Given the description of an element on the screen output the (x, y) to click on. 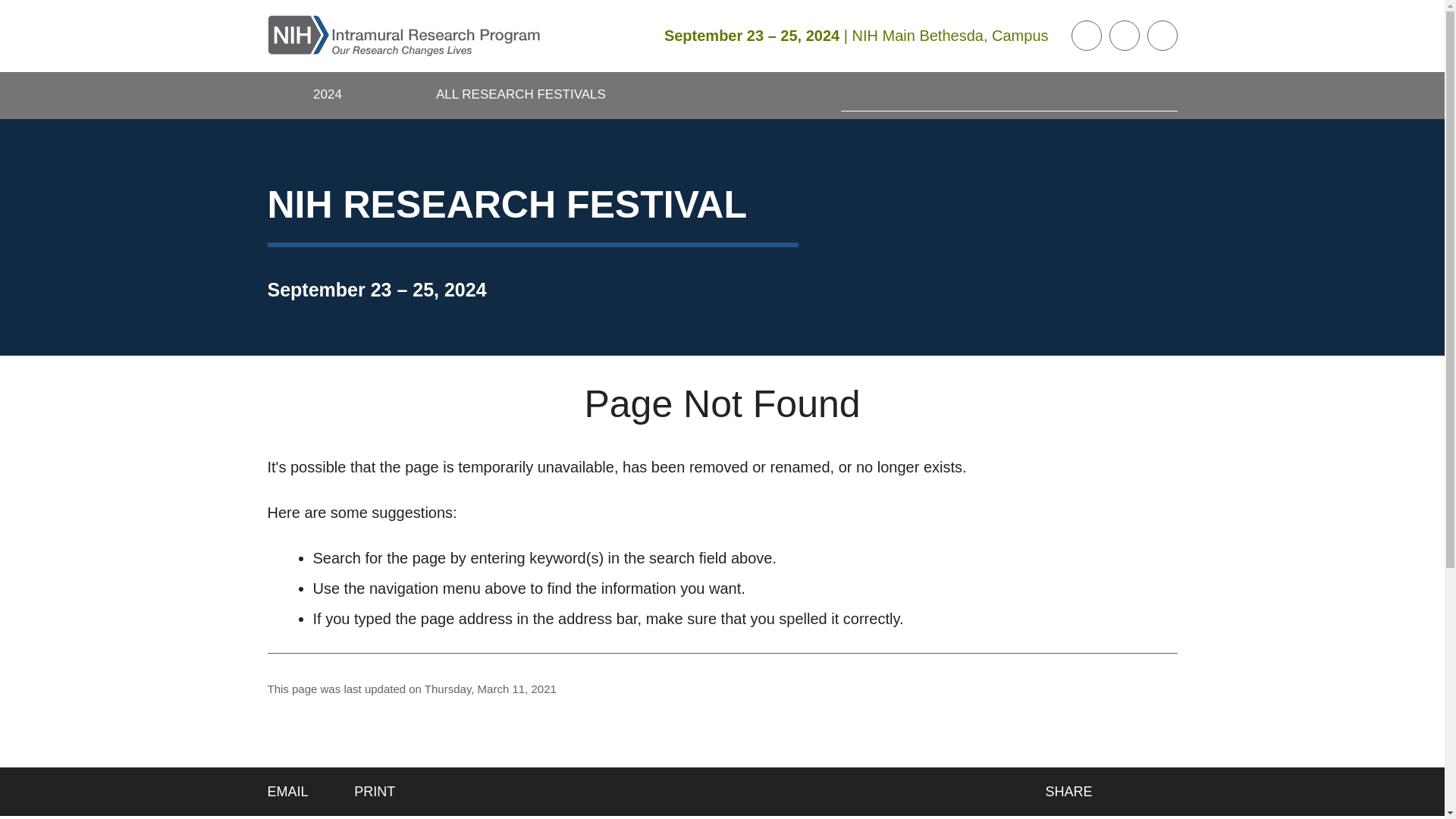
2024 NIH Research Festival (327, 95)
Skip to main content (11, 11)
2024 (327, 95)
